Given the description of an element on the screen output the (x, y) to click on. 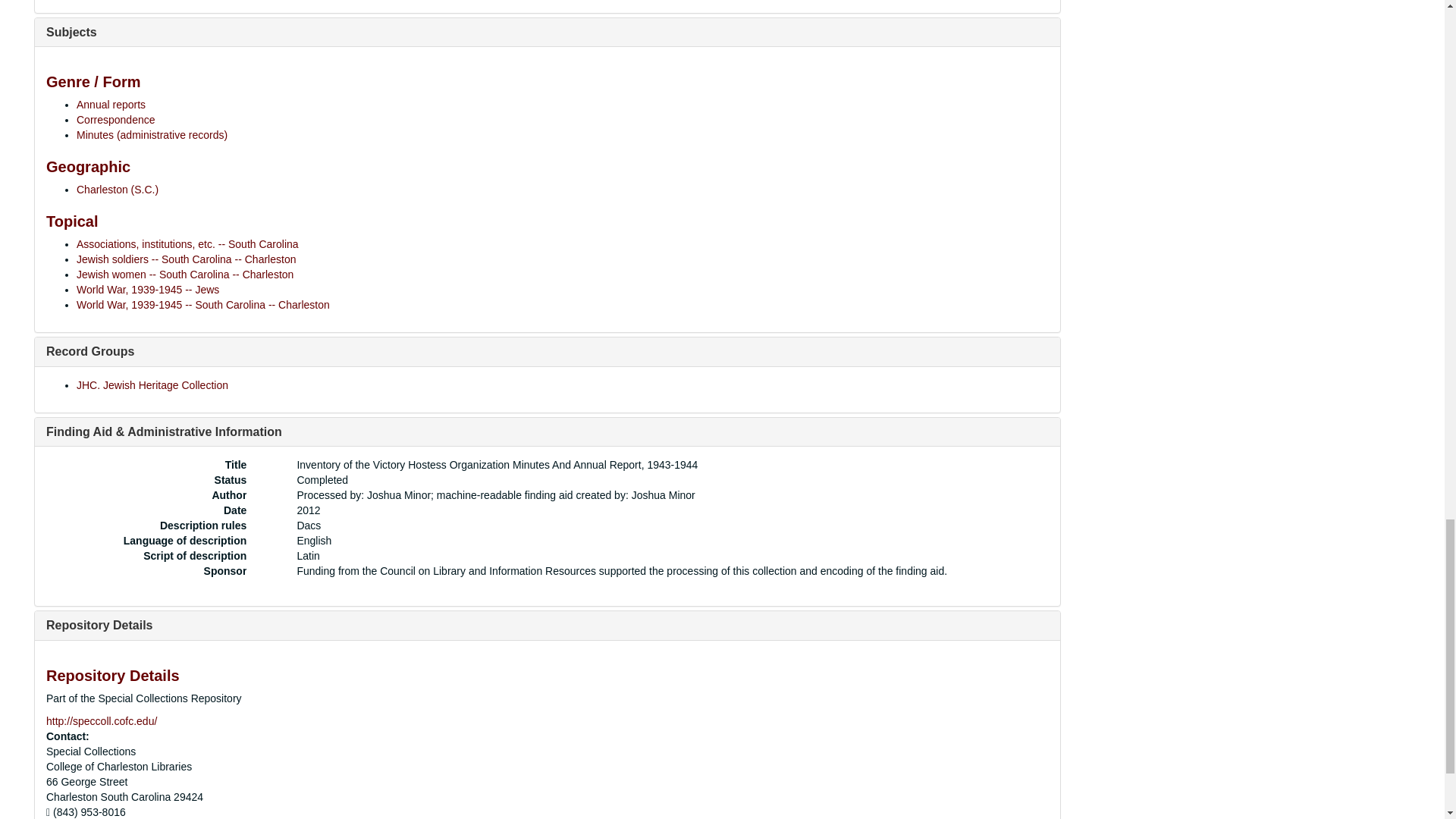
Annual reports (111, 104)
Correspondence (116, 119)
Jewish soldiers -- South Carolina -- Charleston (186, 259)
Subjects (71, 31)
Associations, institutions, etc. -- South Carolina (187, 244)
